Given the description of an element on the screen output the (x, y) to click on. 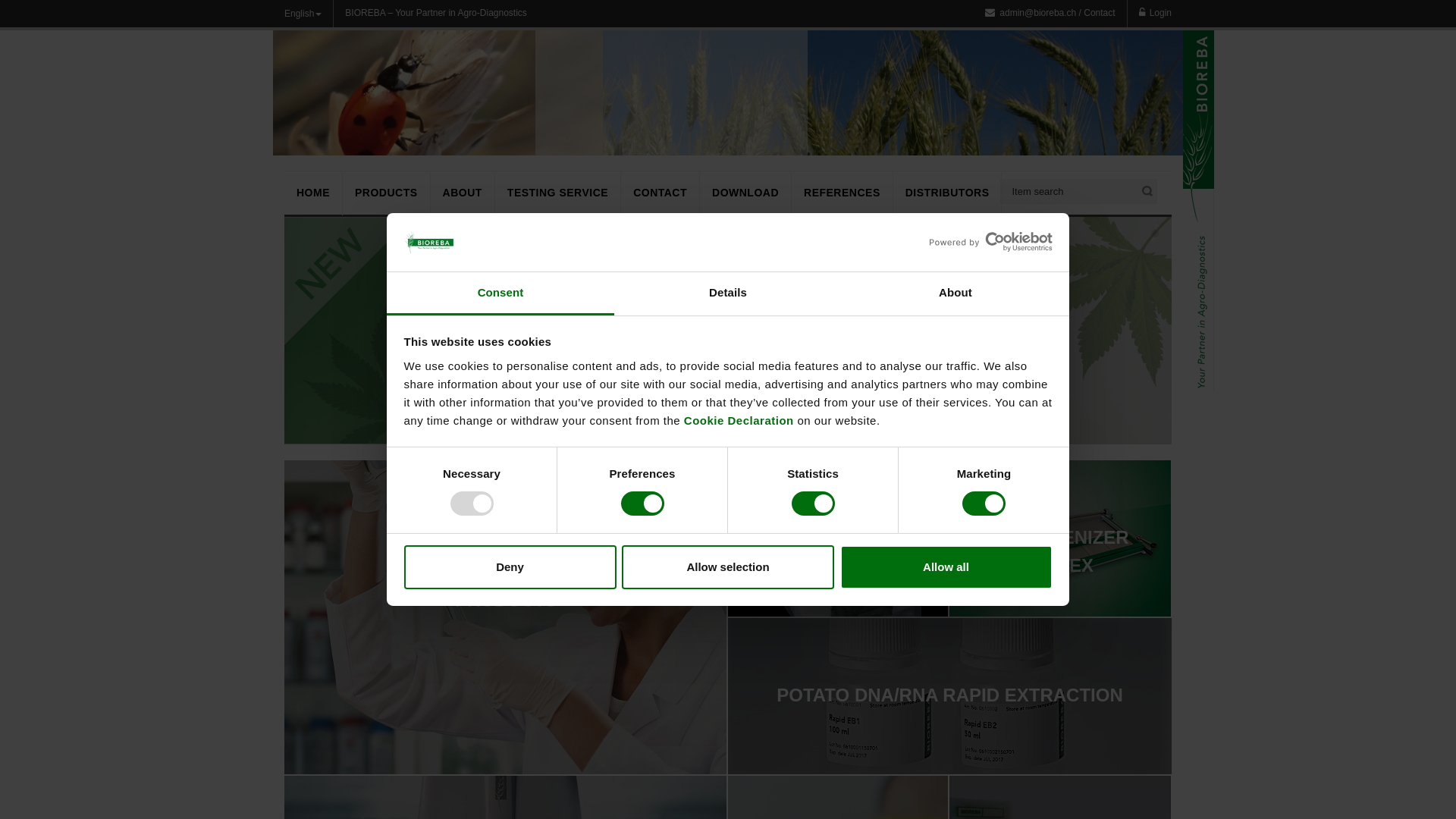
PRODUCTS Element type: text (385, 193)
EXTRACTION BAGS Element type: text (838, 539)
Consent Element type: text (500, 293)
Details Element type: text (727, 293)
Allow selection Element type: text (727, 567)
Deny Element type: text (509, 567)
TESTING SERVICE Element type: text (557, 193)
admin@bioreba.ch / Contact Element type: text (1055, 13)
About Element type: text (955, 293)
Login Element type: text (1155, 13)
POTATO DNA/RNA RAPID EXTRACTION Element type: text (949, 696)
CONTACT Element type: text (660, 193)
HOMOGENIZER HOMEX Element type: text (1059, 539)
DISTRIBUTORS Element type: text (947, 193)
ABOUT Element type: text (462, 193)
PRODUCTS Element type: text (506, 617)
Allow all Element type: text (946, 567)
English Element type: text (308, 13)
HOME Element type: text (313, 193)
Cookie Declaration Element type: text (738, 420)
DOWNLOAD Element type: text (744, 193)
REFERENCES Element type: text (841, 193)
